Given the description of an element on the screen output the (x, y) to click on. 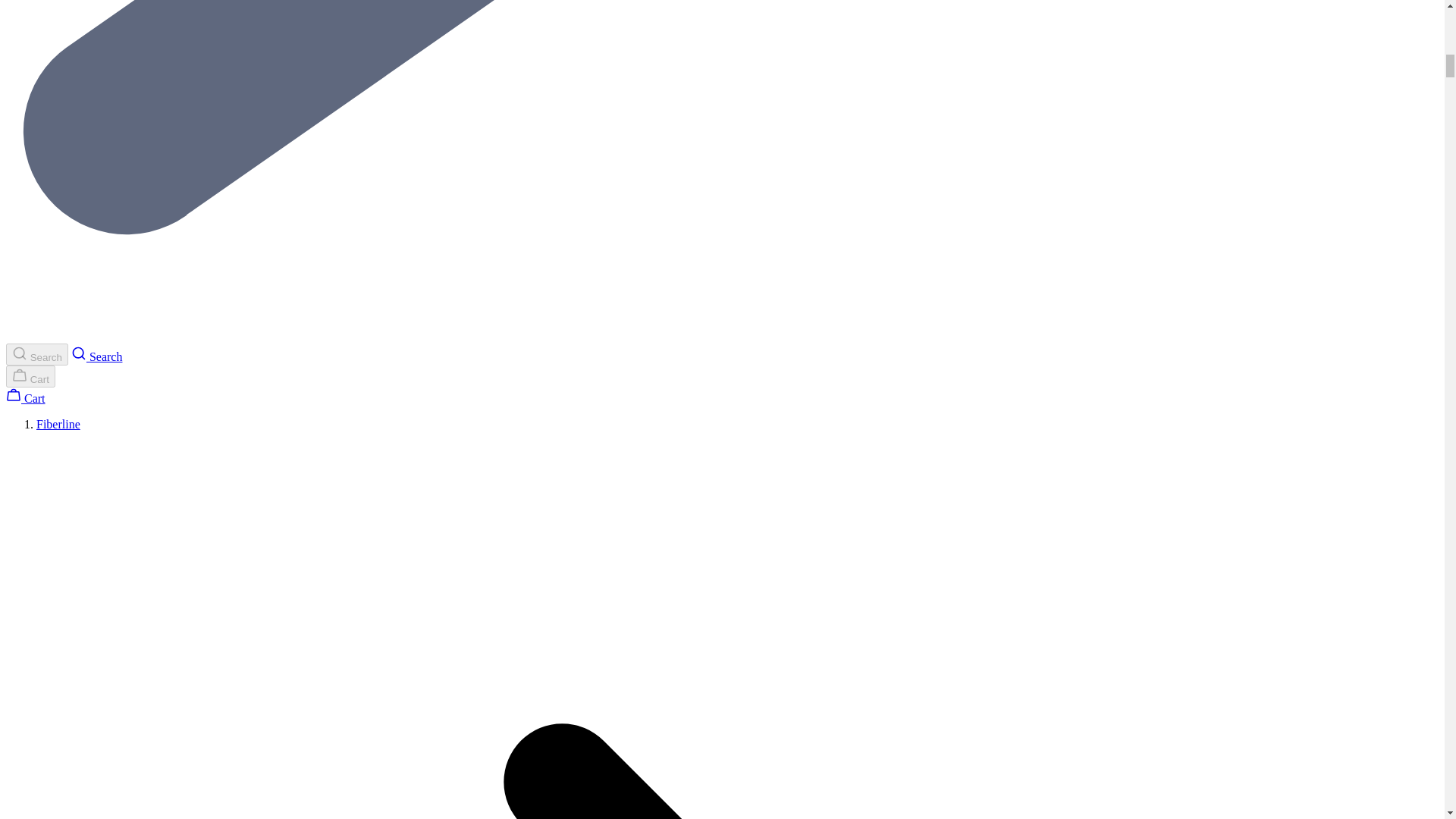
Search (36, 354)
Search (96, 356)
Cart (30, 376)
Cart (25, 398)
